Given the description of an element on the screen output the (x, y) to click on. 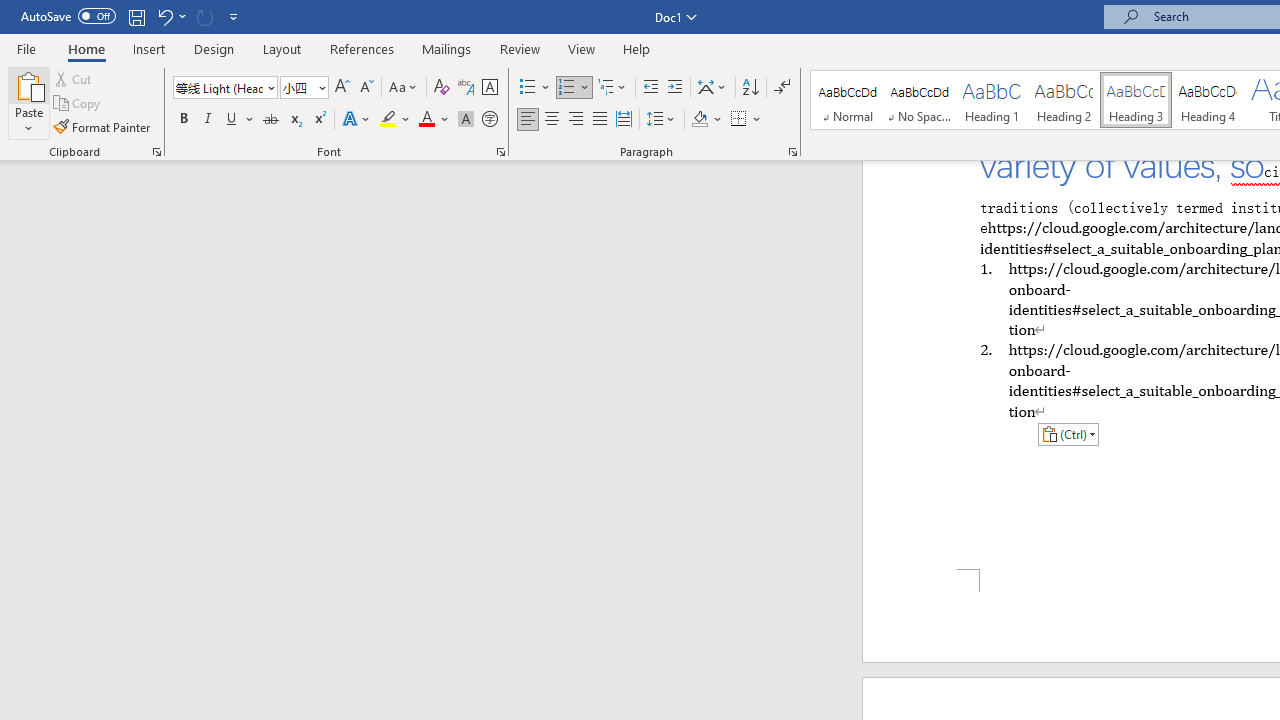
Heading 1 (991, 100)
Asian Layout (712, 87)
Italic (207, 119)
Increase Indent (675, 87)
Decrease Indent (650, 87)
Center (552, 119)
Grow Font (342, 87)
Text Highlight Color Yellow (388, 119)
